Given the description of an element on the screen output the (x, y) to click on. 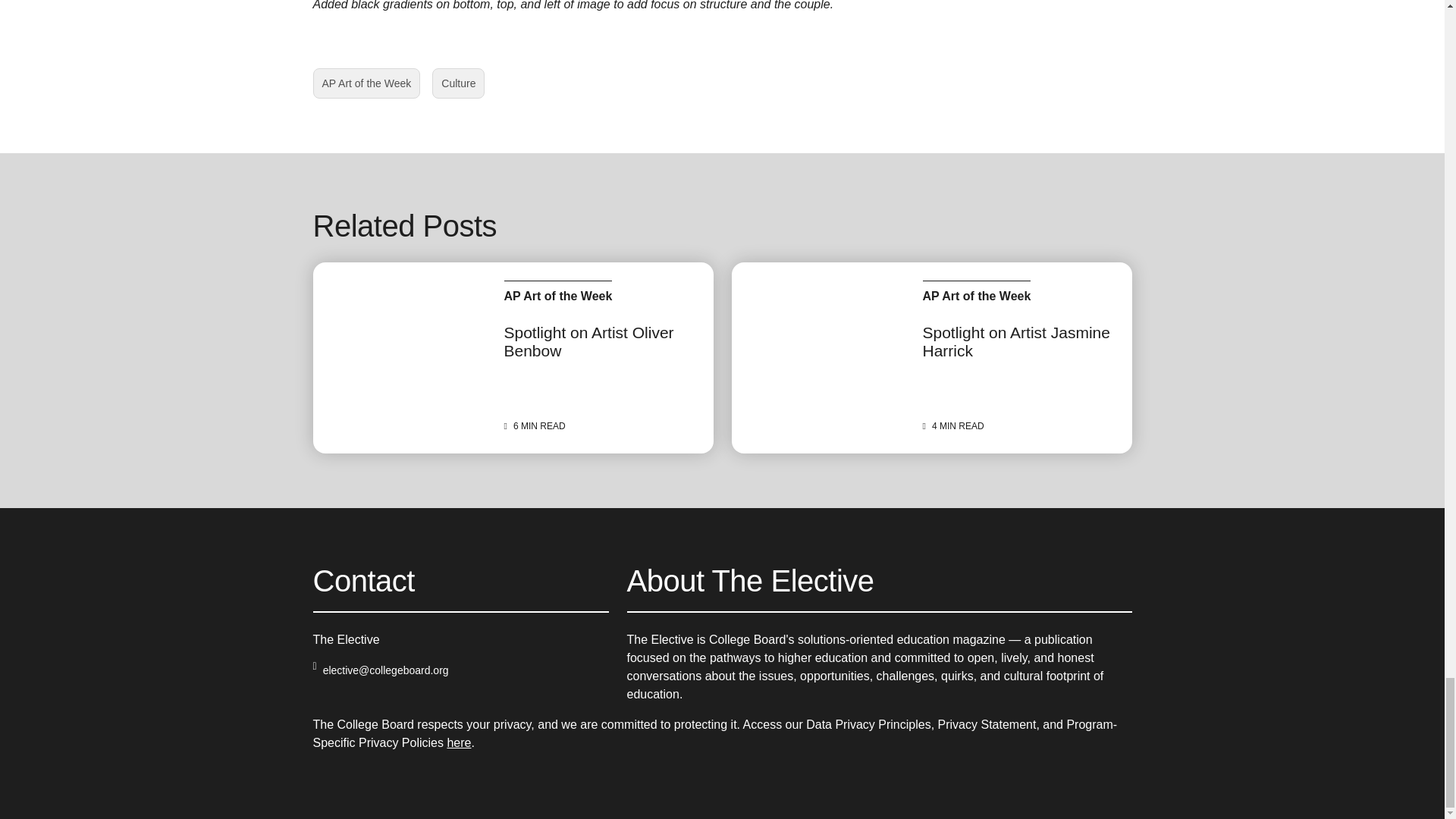
here (458, 742)
